Given the description of an element on the screen output the (x, y) to click on. 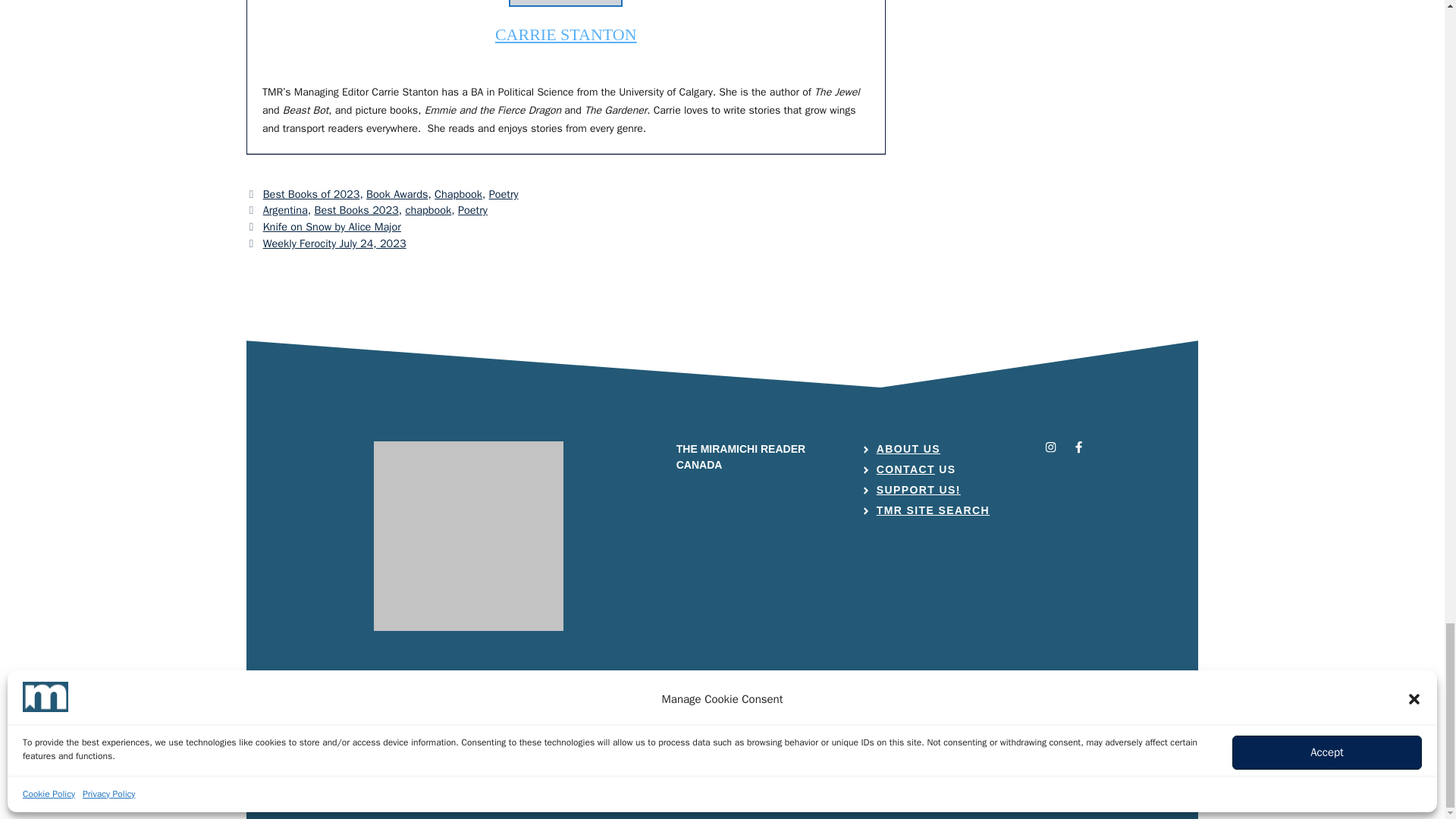
cropped-New-TMR-logo-2024.png (468, 535)
